Given the description of an element on the screen output the (x, y) to click on. 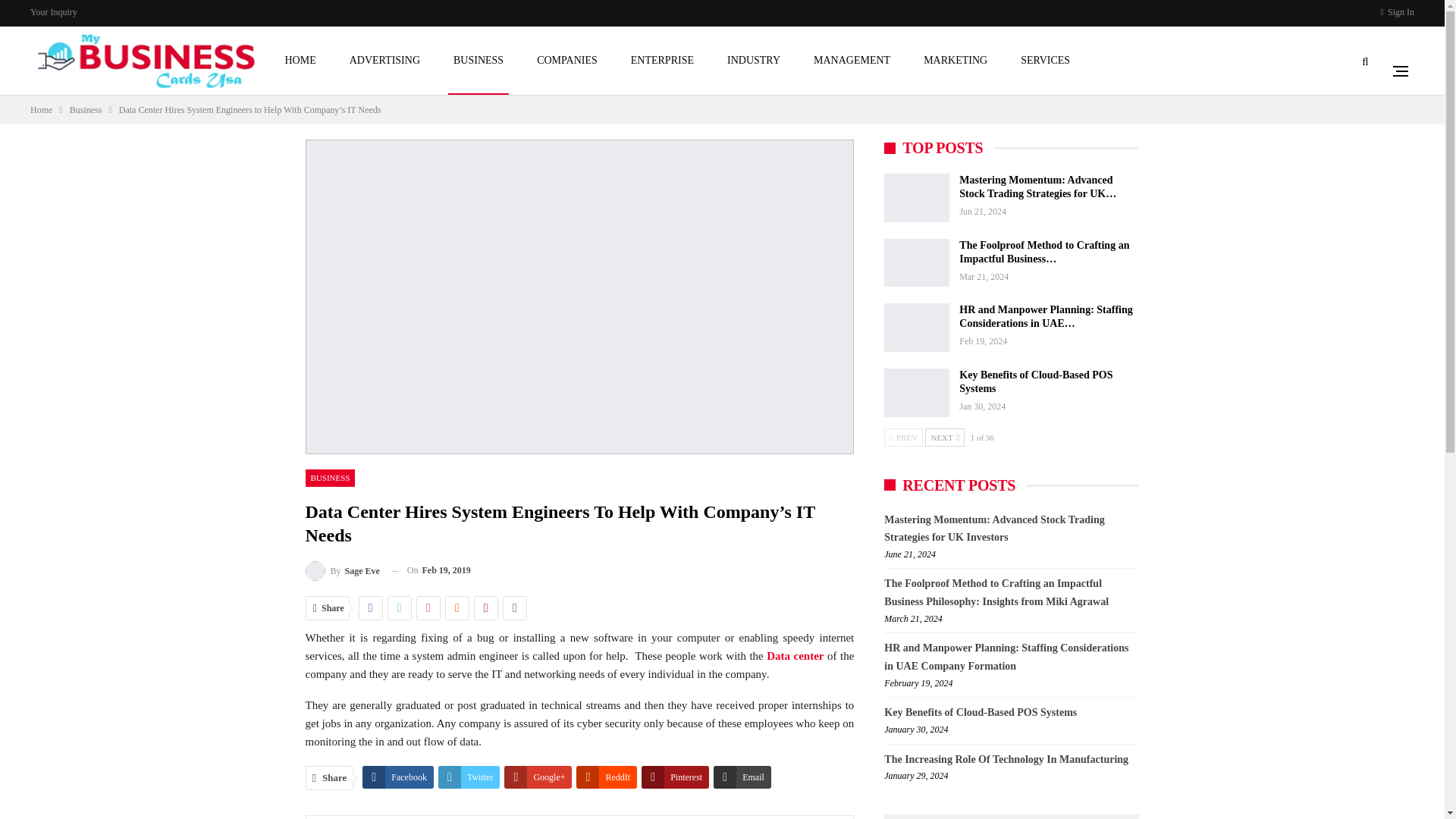
INDUSTRY (754, 60)
Twitter (468, 776)
BUSINESS (329, 477)
Your Inquiry (53, 11)
Facebook (397, 776)
Sign In (1396, 12)
Pinterest (675, 776)
COMPANIES (566, 60)
MANAGEMENT (851, 60)
Data center (795, 655)
ADVERTISING (384, 60)
Home (41, 109)
Business (85, 109)
ReddIt (606, 776)
